Given the description of an element on the screen output the (x, y) to click on. 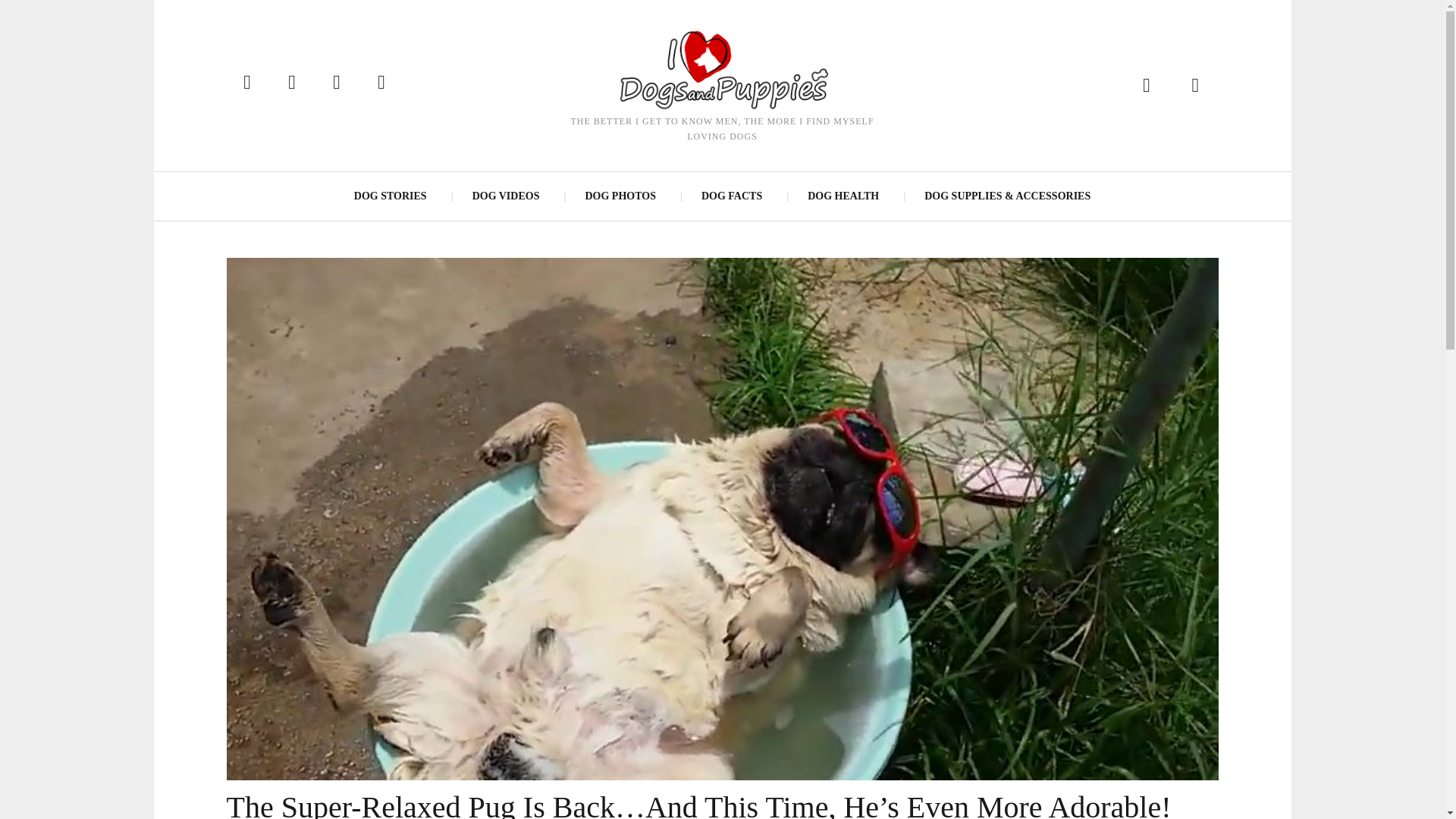
DOG STORIES (390, 195)
facebook (246, 82)
twitter (335, 82)
gplus (382, 82)
pinterest (291, 82)
DOG VIDEOS (505, 195)
DOG FACTS (731, 195)
DOG HEALTH (842, 195)
ILoveDogsAndPuppies (721, 68)
DOG PHOTOS (619, 195)
